Given the description of an element on the screen output the (x, y) to click on. 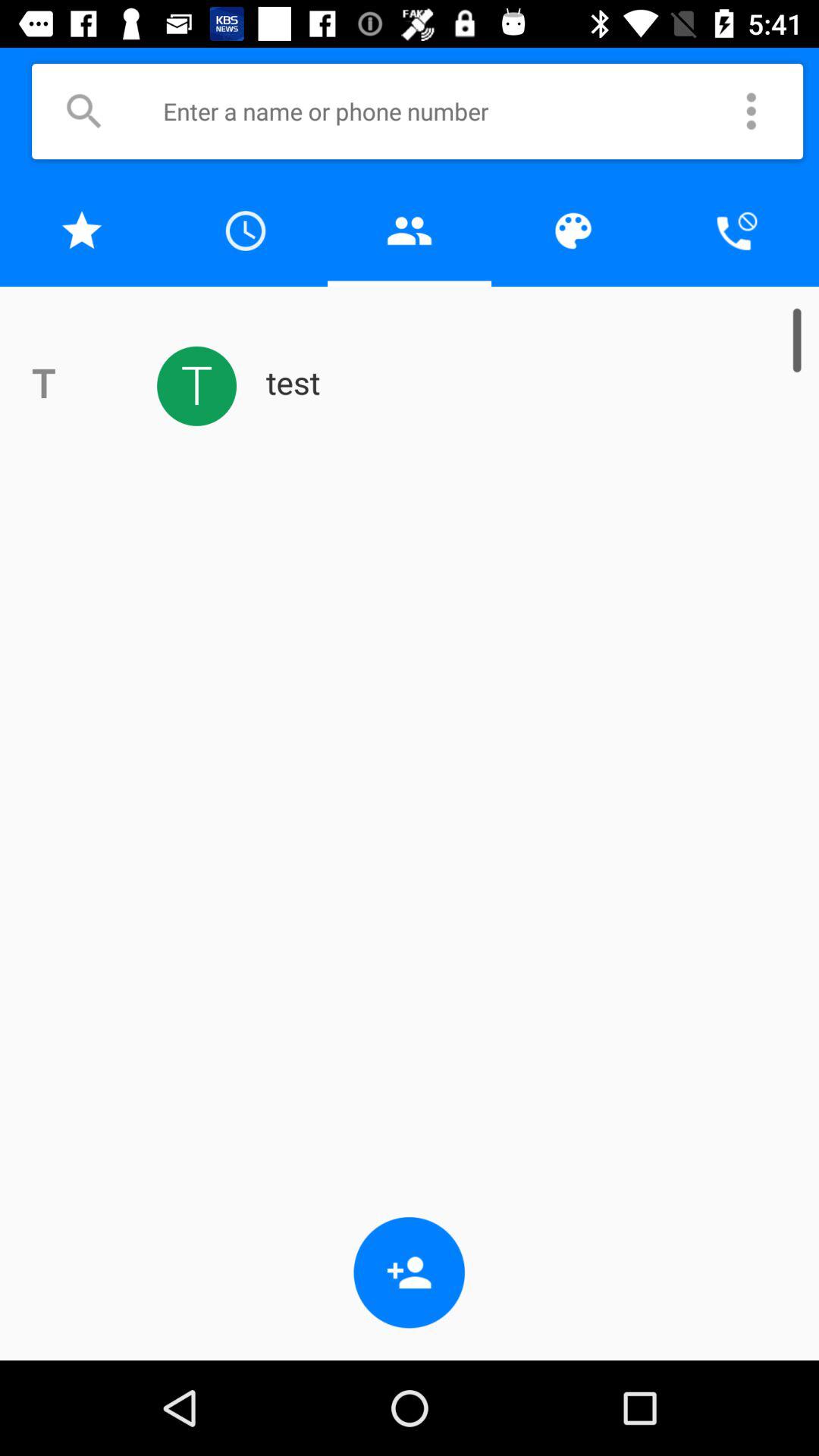
shows search button (83, 111)
